Given the description of an element on the screen output the (x, y) to click on. 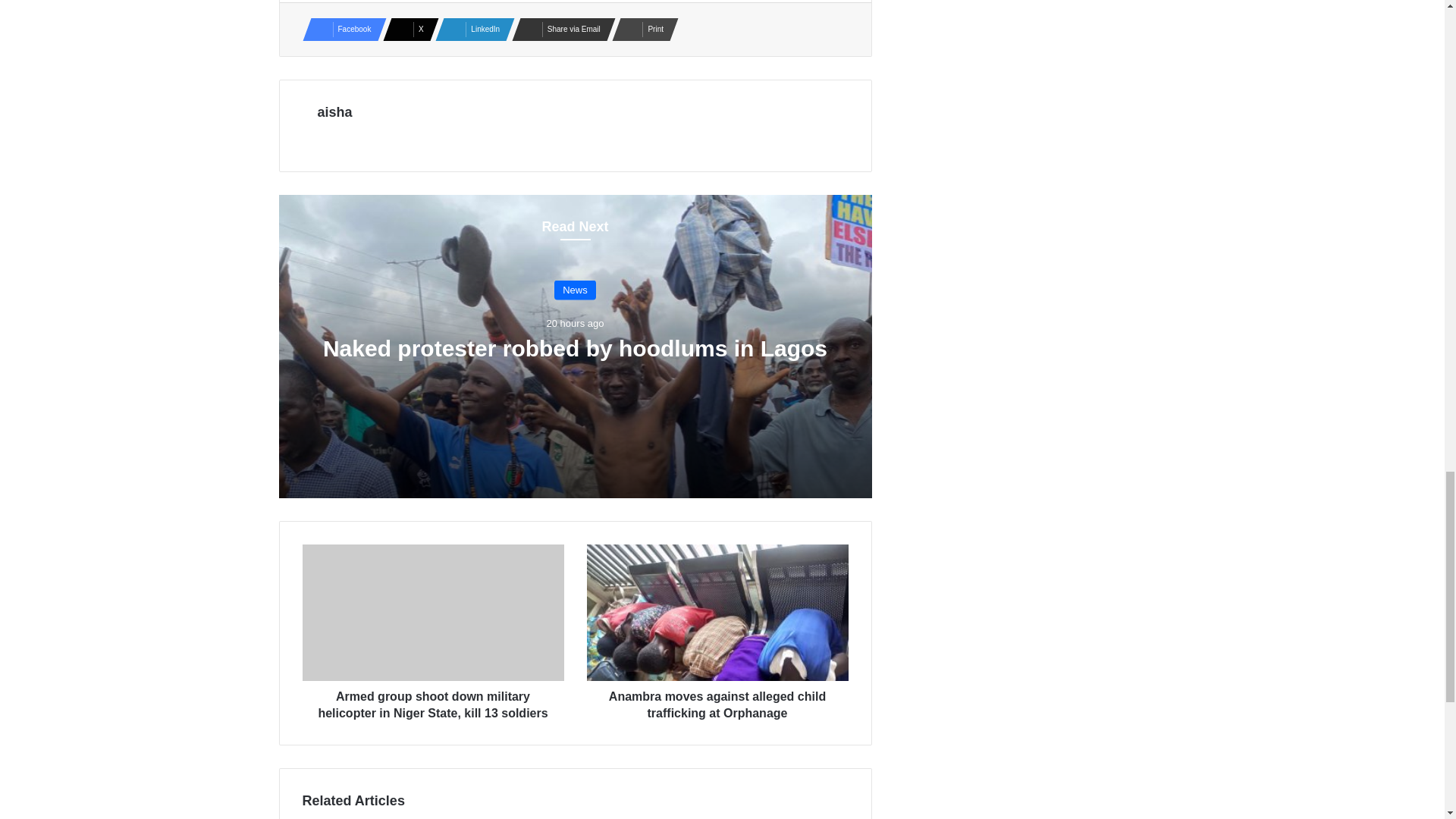
Print (640, 29)
X (405, 29)
Facebook (339, 29)
Share via Email (559, 29)
LinkedIn (470, 29)
X (405, 29)
Facebook (339, 29)
LinkedIn (470, 29)
